Given the description of an element on the screen output the (x, y) to click on. 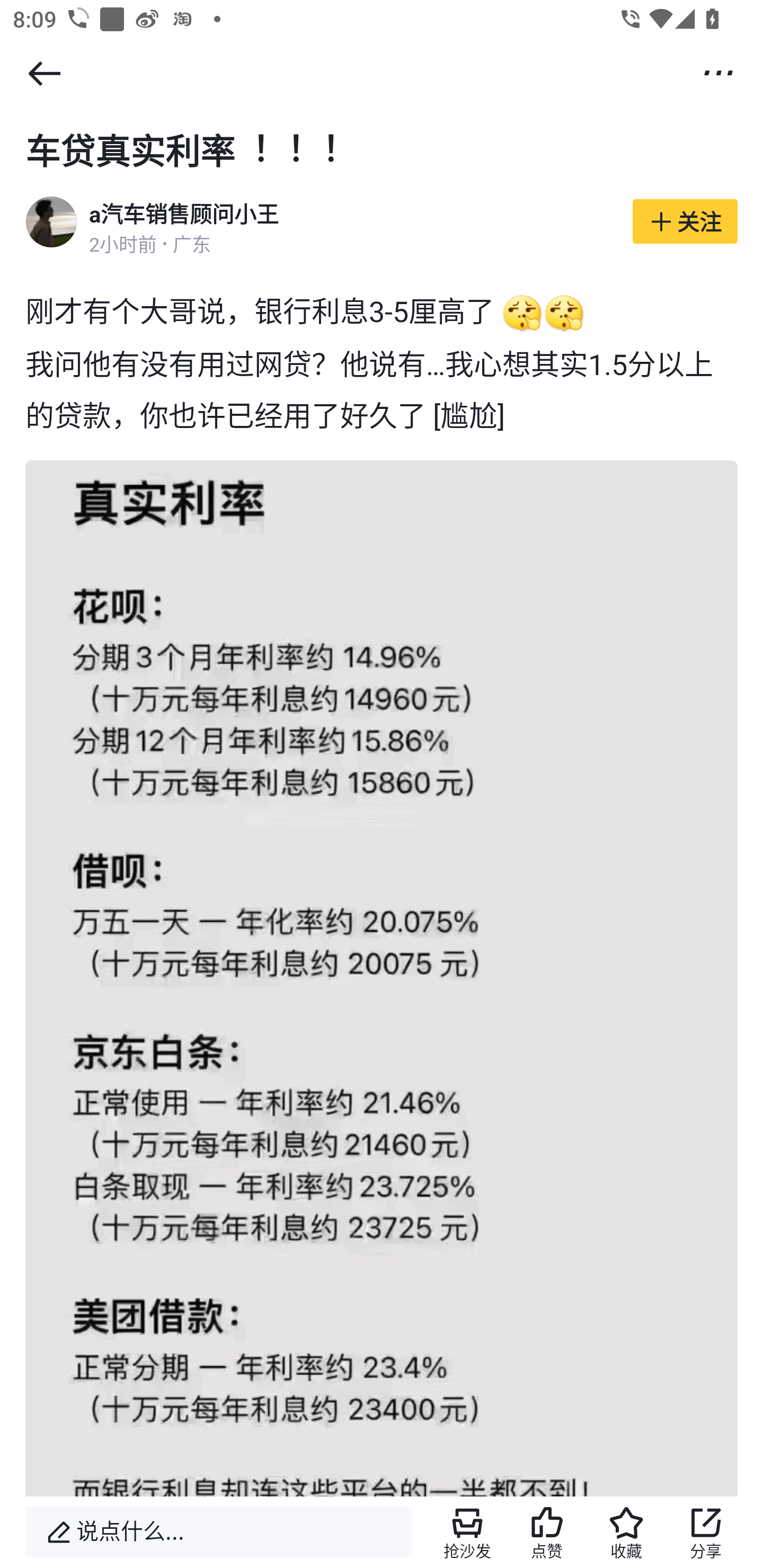
 (718, 71)
 (44, 73)
a汽车销售顾问小王 (183, 214)
 关注 (684, 221)
 抢沙发 (467, 1531)
点赞 (546, 1531)
收藏 (625, 1531)
 分享 (705, 1531)
 说点什么... (218, 1531)
